Given the description of an element on the screen output the (x, y) to click on. 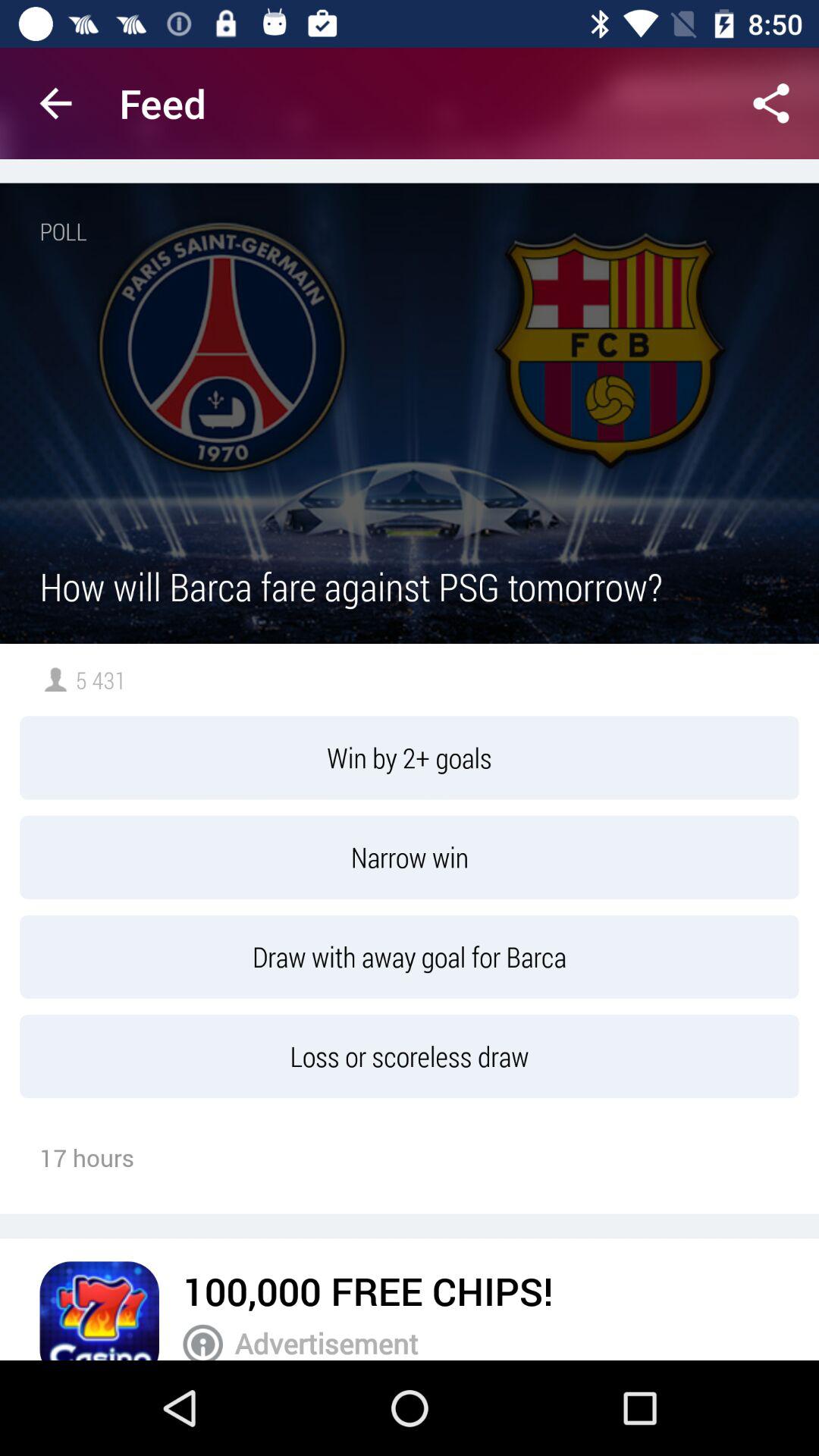
launch item above the 17 hours  item (409, 1056)
